Given the description of an element on the screen output the (x, y) to click on. 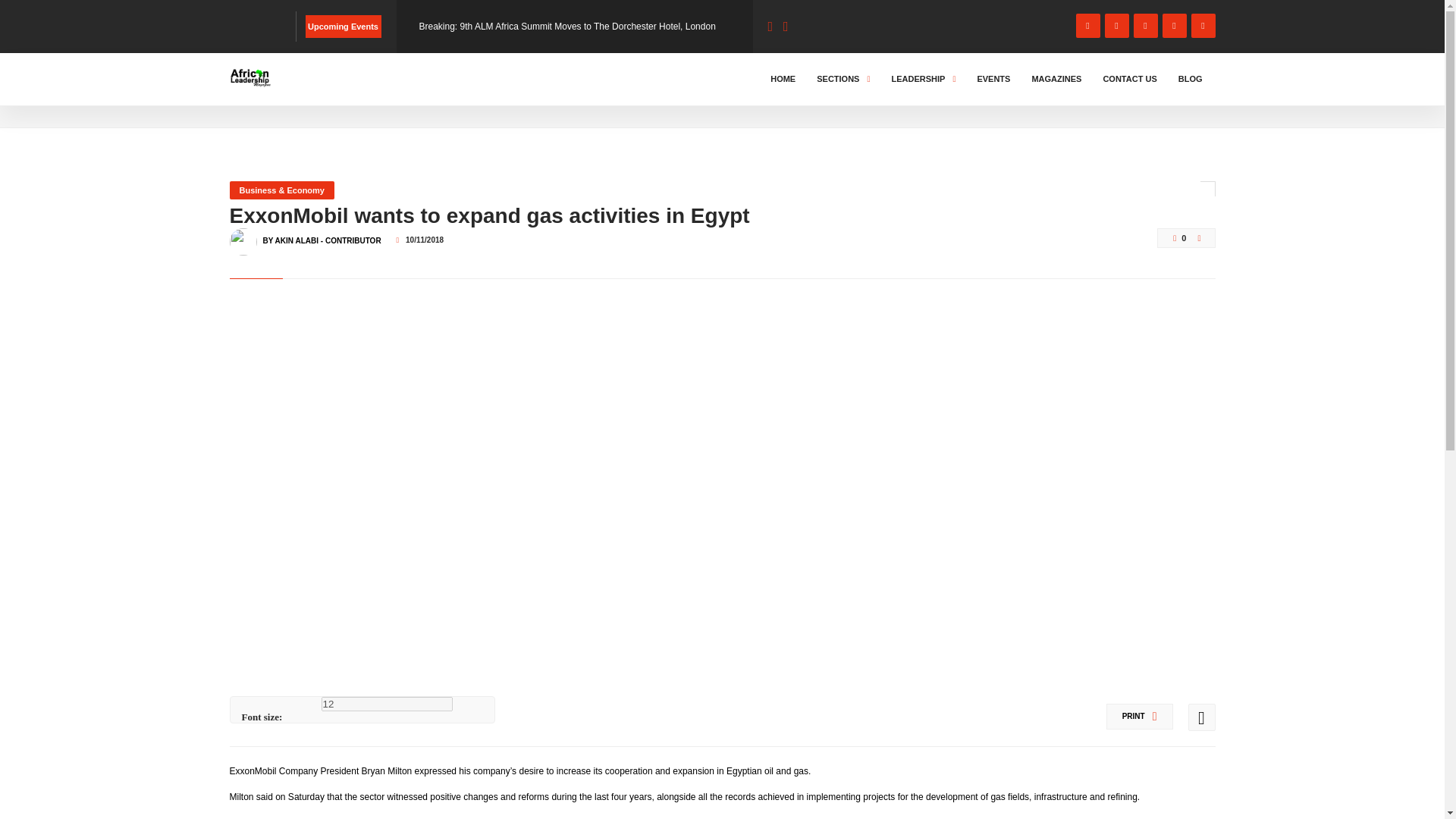
12 (386, 703)
HOME (246, 92)
CONTACT US (1129, 79)
MAGAZINES (1056, 79)
Scroll Down To Discover (1154, 88)
PRINT (1139, 716)
LEADERSHIP (922, 79)
BLOG (1190, 79)
BY AKIN ALABI - CONTRIBUTOR (321, 233)
EVENTS (992, 79)
SECTIONS (842, 79)
BLOG (293, 92)
HOME (782, 79)
